Given the description of an element on the screen output the (x, y) to click on. 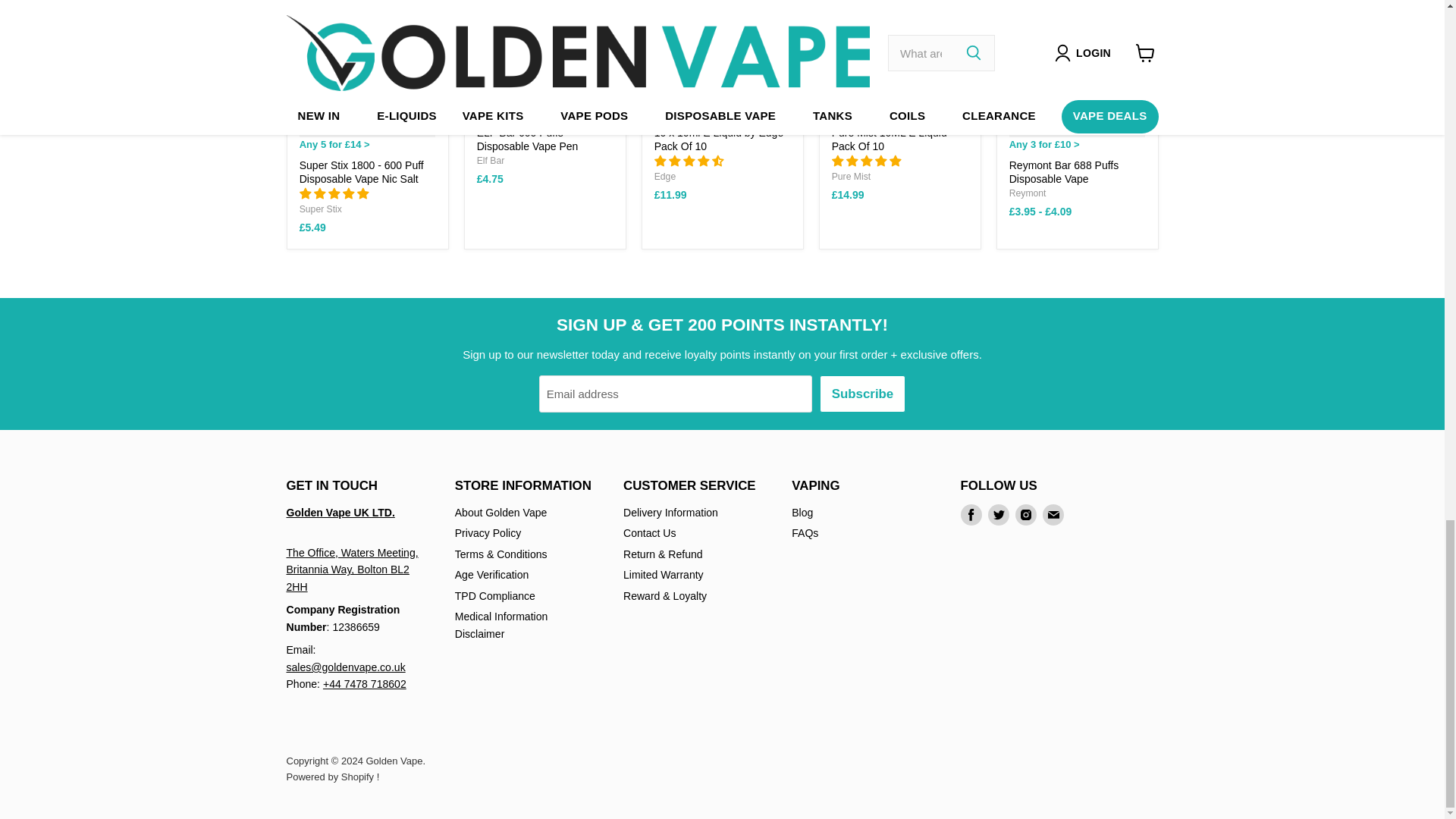
Instagram (1024, 514)
Elf Bar (491, 160)
Facebook (970, 514)
Email (1052, 514)
Twitter (998, 514)
Super Stix (320, 208)
Pure Mist (850, 176)
Edge (664, 176)
Reymont (1027, 193)
